Given the description of an element on the screen output the (x, y) to click on. 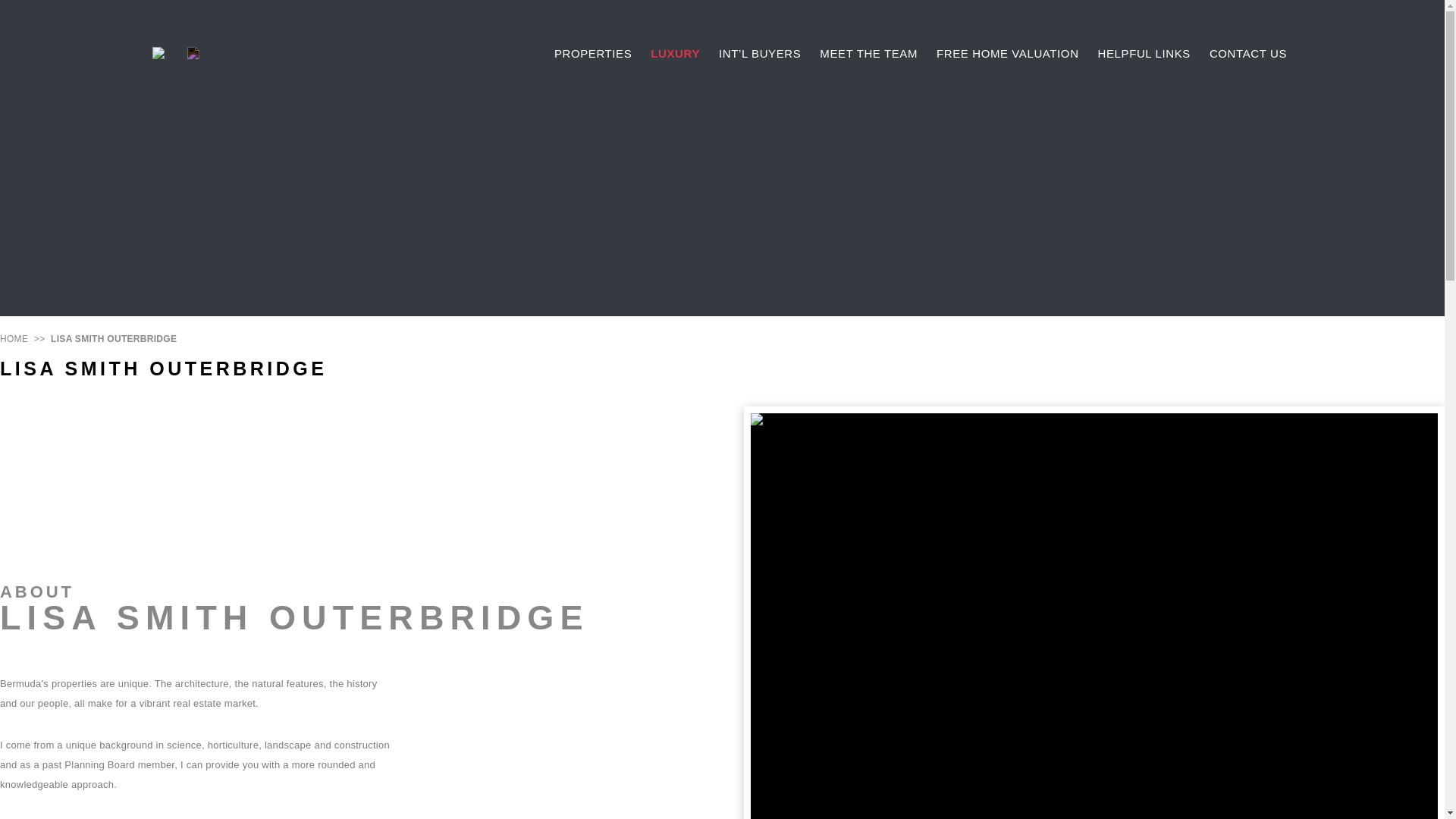
HELPFUL LINKS (1144, 52)
HOME (13, 338)
MEET THE TEAM (868, 52)
PROPERTIES (592, 52)
CONTACT US (1248, 52)
FREE HOME VALUATION (1007, 52)
LUXURY (675, 52)
